Given the description of an element on the screen output the (x, y) to click on. 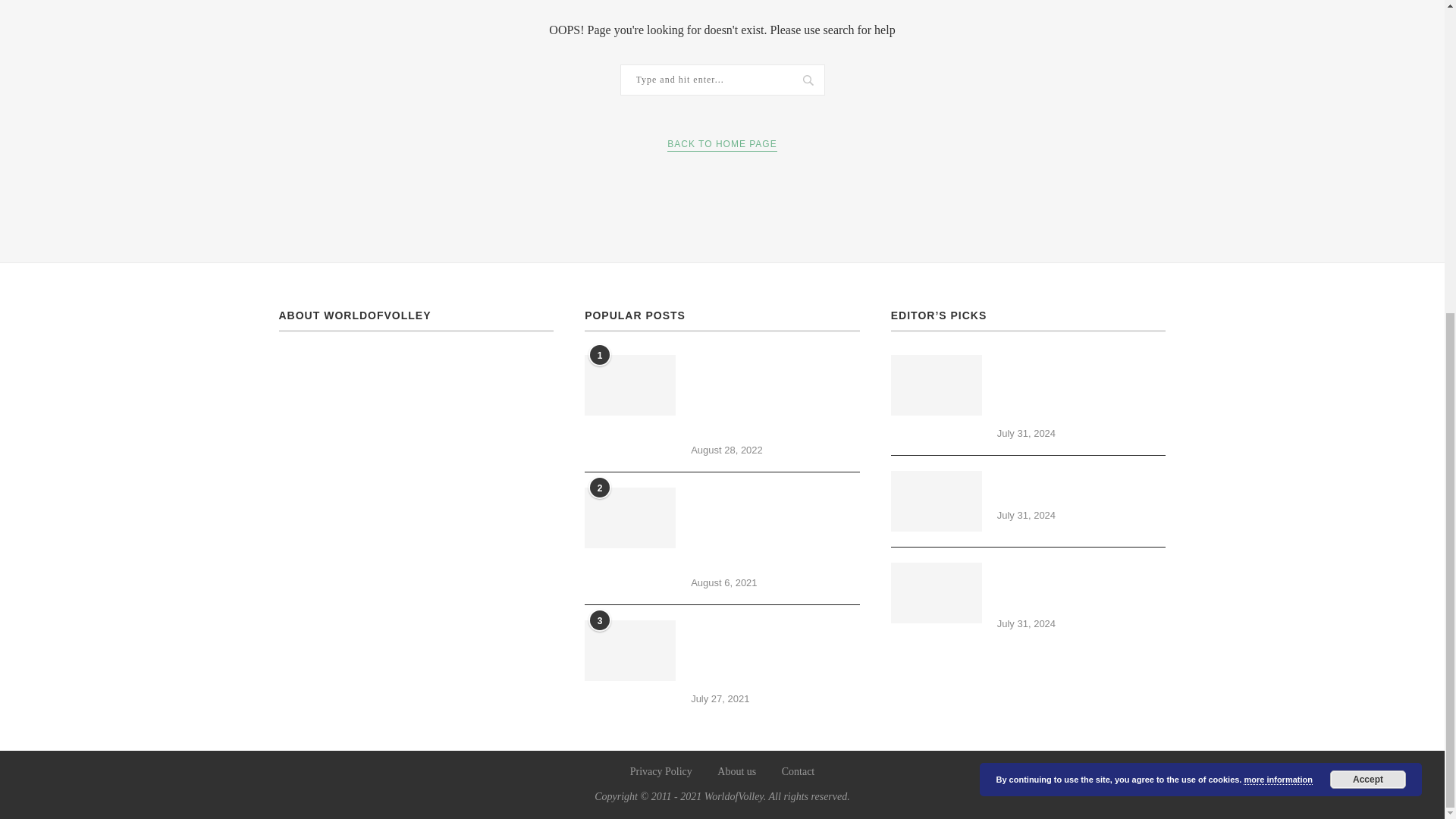
Paris 2024 M: USA and Italy Secure Wins (1081, 487)
Paris 2024 M: USA and Italy Secure Wins (936, 500)
Paris 2024 M: France and Slovenia Secure Quarterfinal Spots (1081, 587)
Paris 2024 M: France and Slovenia Secure Quarterfinal Spots (936, 592)
